Given the description of an element on the screen output the (x, y) to click on. 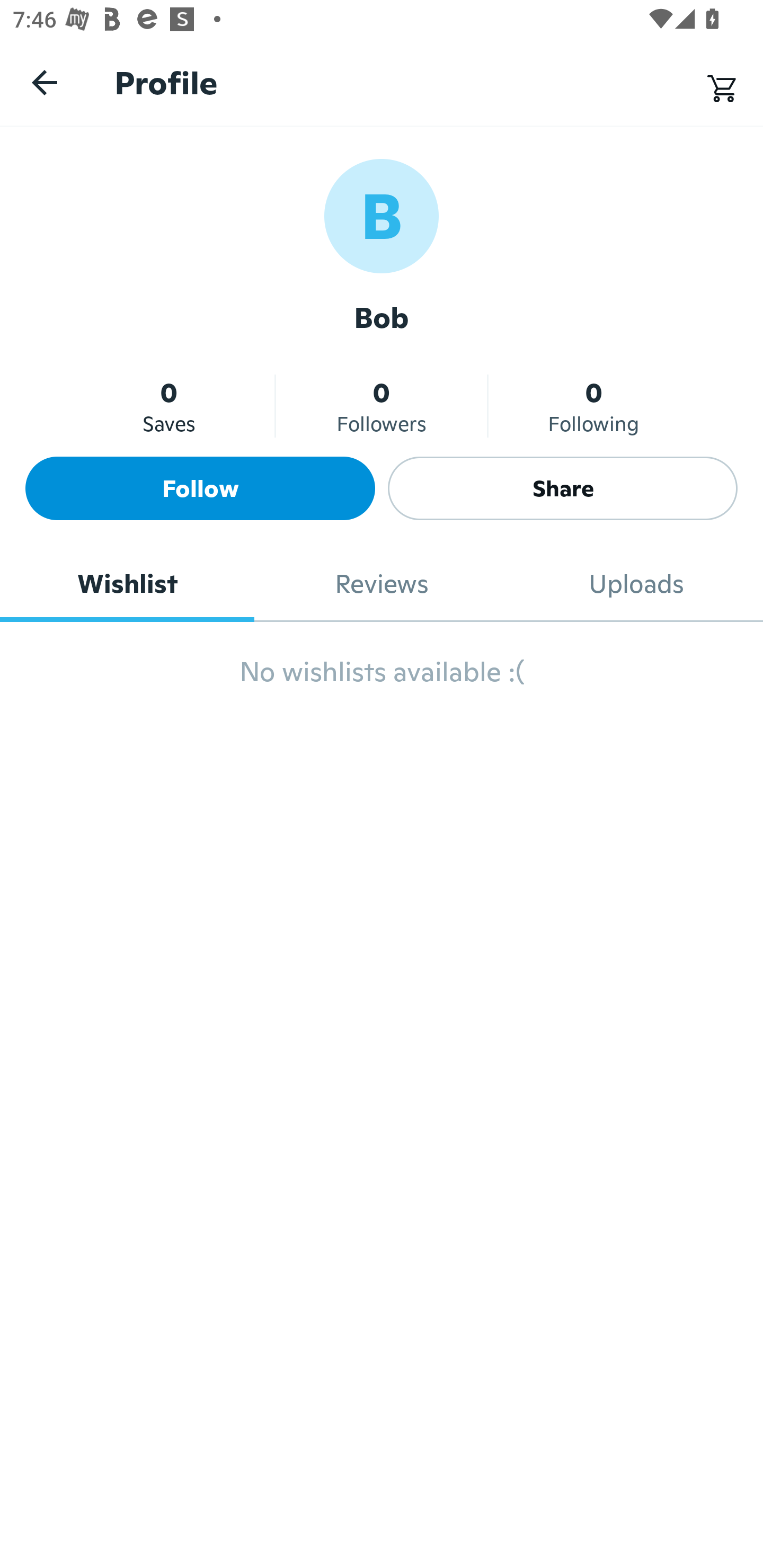
Navigate up (44, 82)
B (381, 215)
0 Followers (381, 405)
0 Following (593, 405)
Follow (200, 488)
Share (562, 488)
Wishlist (127, 583)
Reviews (381, 583)
Uploads (635, 583)
No wishlists available :( (381, 679)
